Given the description of an element on the screen output the (x, y) to click on. 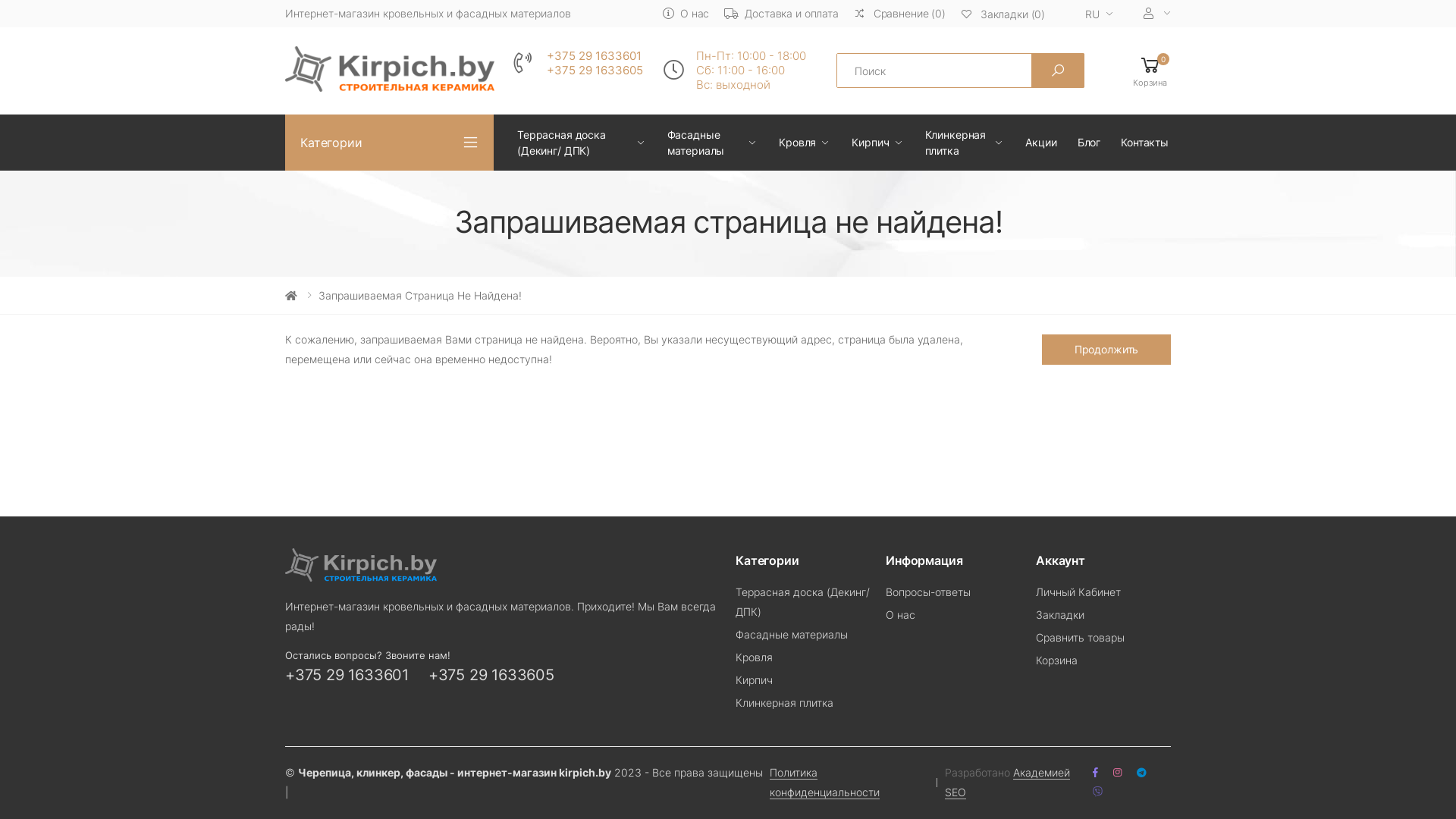
+375 29 1633601 Element type: text (346, 674)
+375 29 1633605 Element type: text (594, 70)
+375 29 1633605 Element type: text (491, 674)
+375 29 1633601 Element type: text (594, 56)
RU Element type: text (1094, 14)
